Given the description of an element on the screen output the (x, y) to click on. 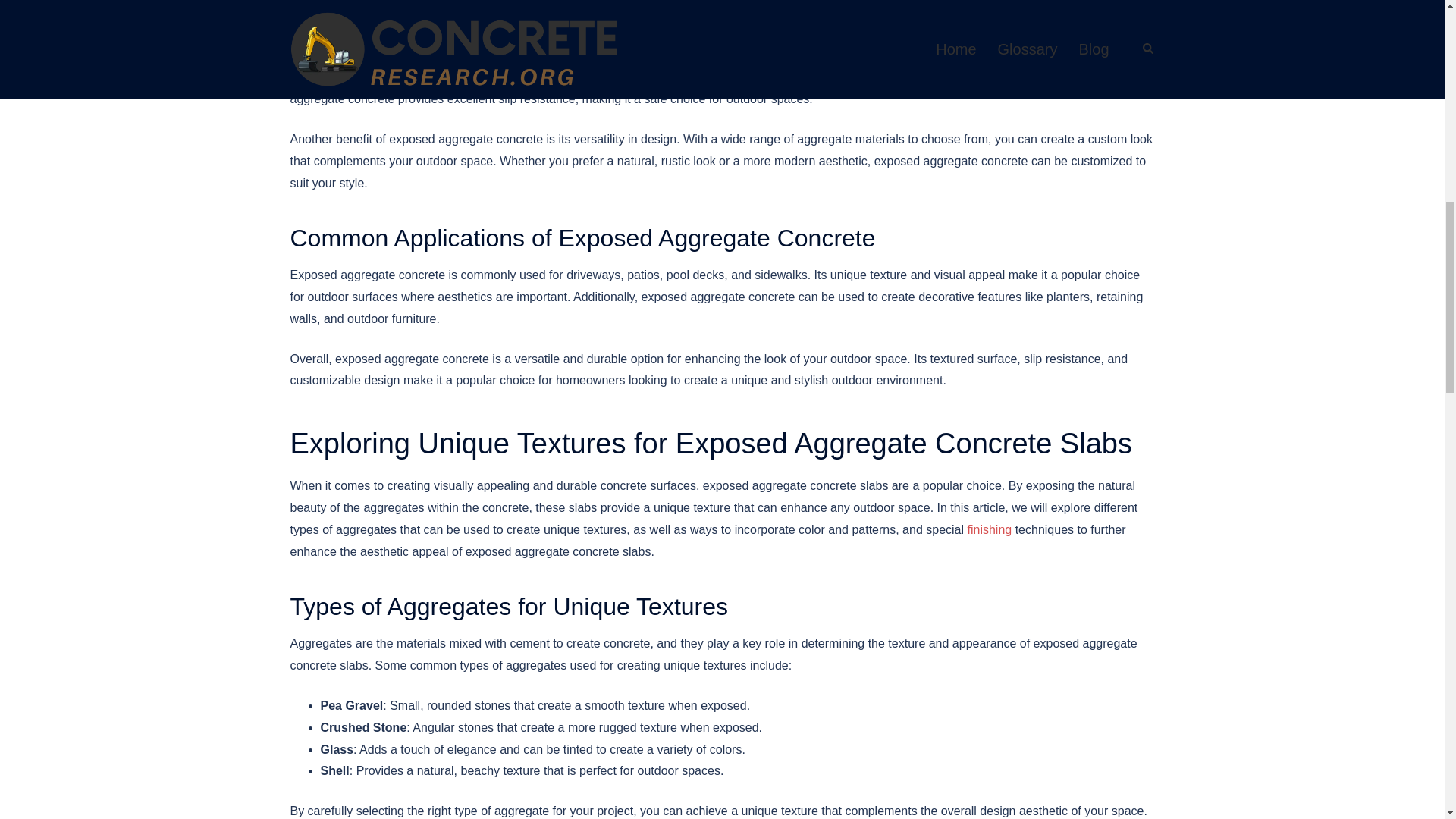
finishing (988, 529)
finishing (988, 529)
